Given the description of an element on the screen output the (x, y) to click on. 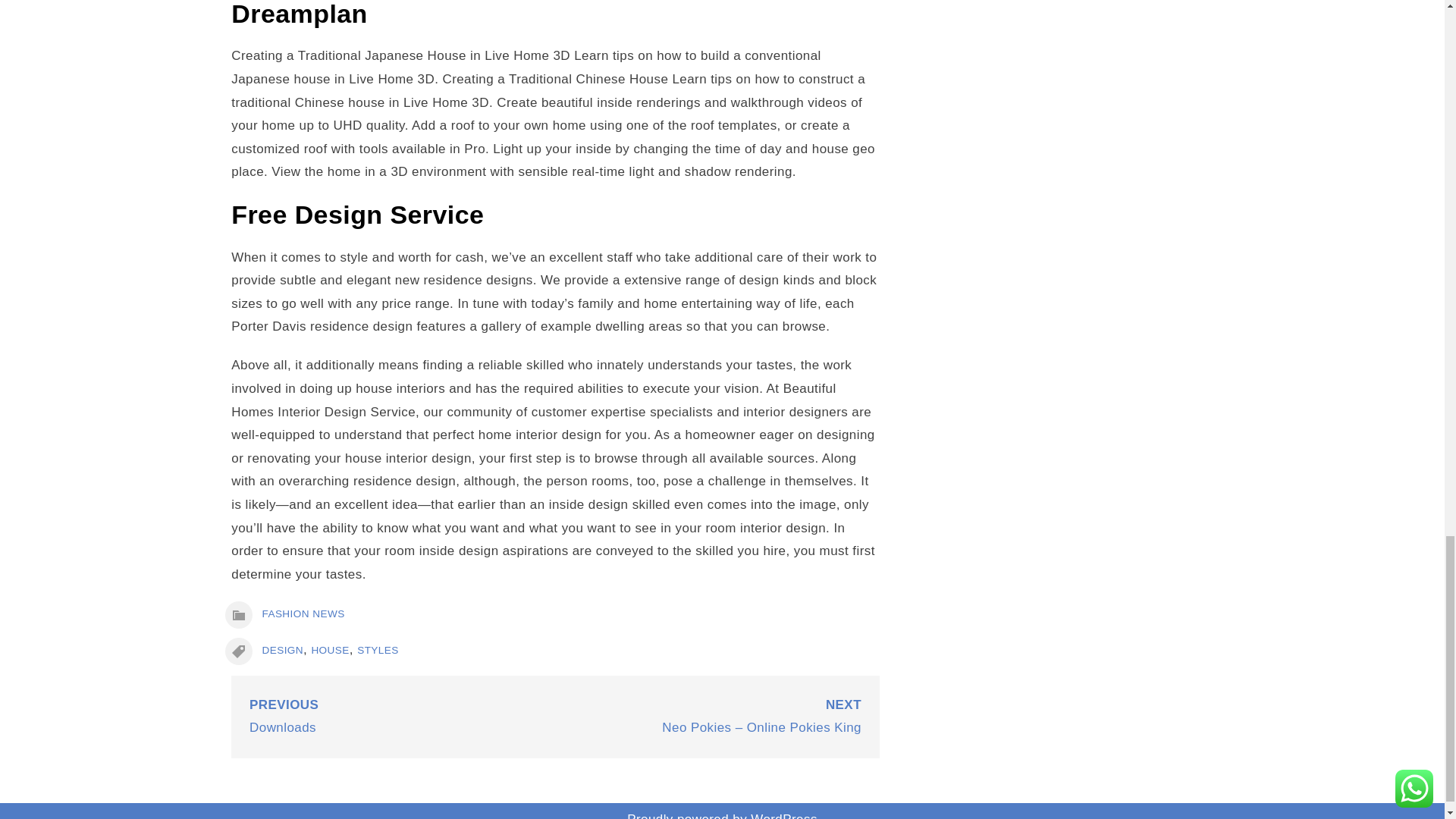
DESIGN (282, 650)
HOUSE (330, 650)
FASHION NEWS (302, 613)
STYLES (377, 650)
